Given the description of an element on the screen output the (x, y) to click on. 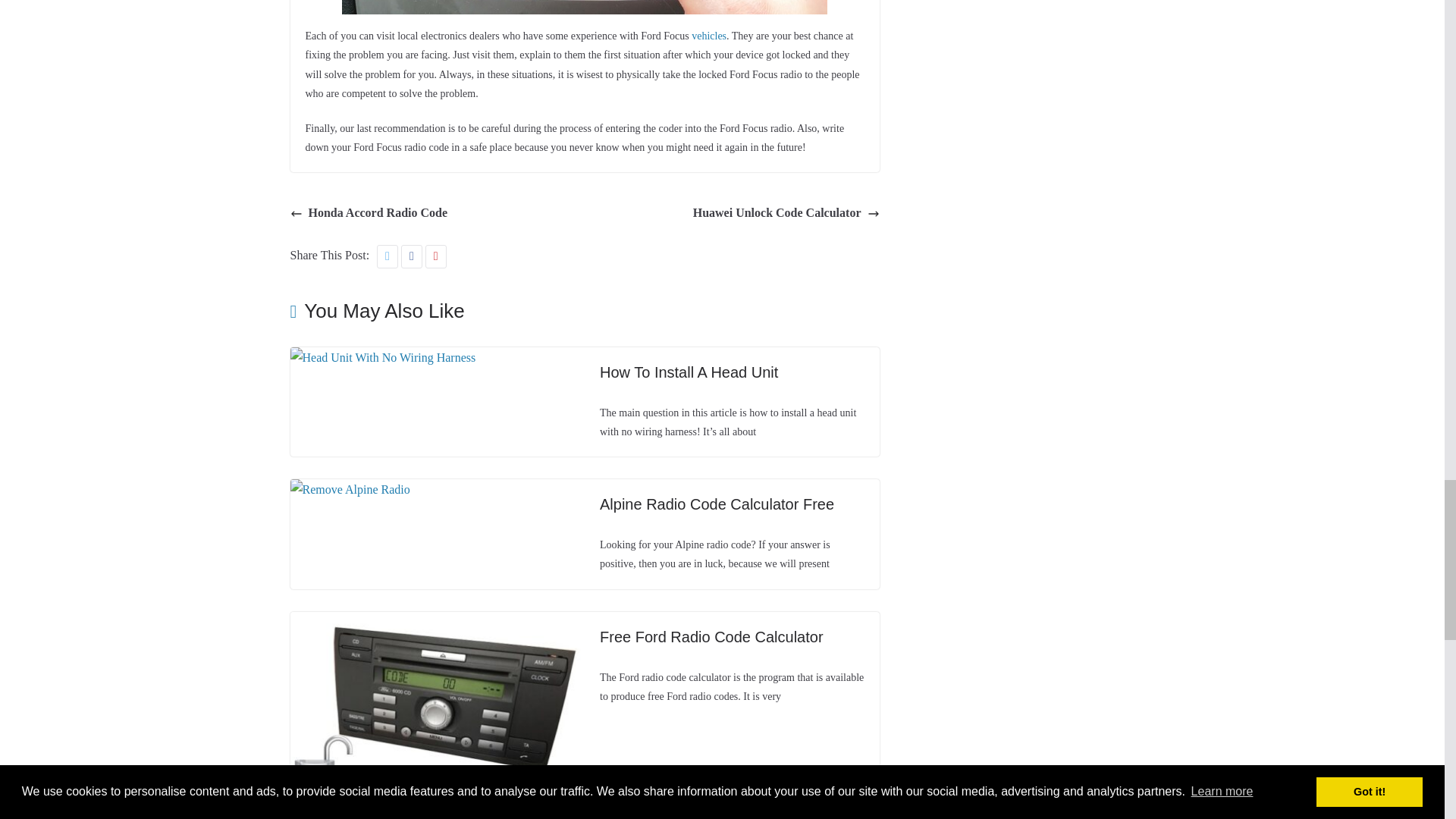
Alpine Radio Code Calculator Free (716, 504)
How To Install A Head Unit (382, 357)
Alpine Radio Code Calculator Free (349, 489)
How To Install A Head Unit (688, 371)
